Given the description of an element on the screen output the (x, y) to click on. 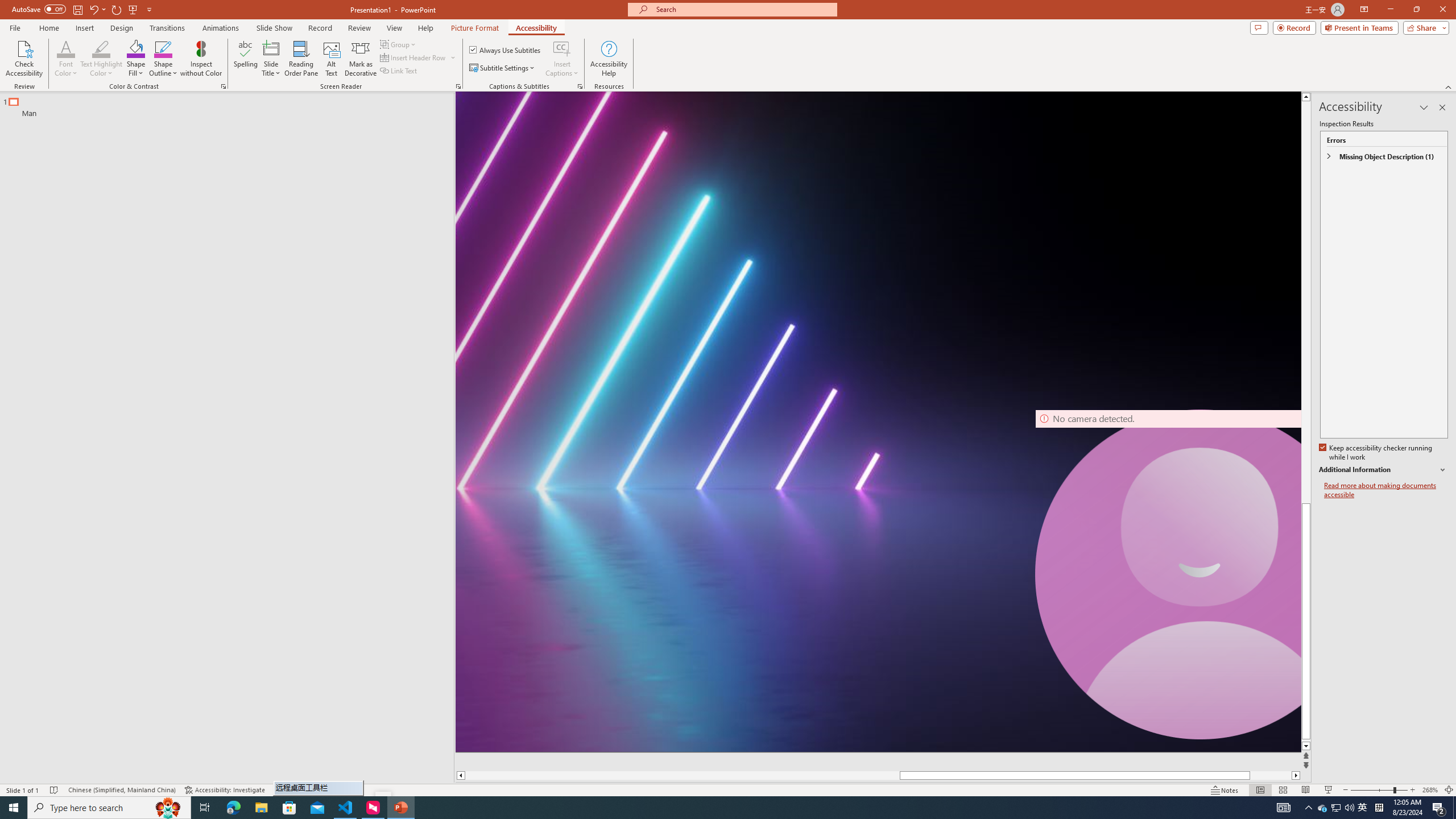
Task Pane Options (1423, 107)
Text Highlight Color (100, 58)
Present in Teams (1359, 27)
Class: MsoCommandBar (728, 789)
Additional Information (1383, 469)
From Beginning (133, 9)
Picture Format (475, 28)
Record (1294, 27)
Redo (117, 9)
Collapse the Ribbon (1448, 86)
Home (48, 28)
Read more about making documents accessible (1385, 489)
Restore Down (1416, 9)
Ribbon Display Options (1364, 9)
Check Accessibility (23, 58)
